Given the description of an element on the screen output the (x, y) to click on. 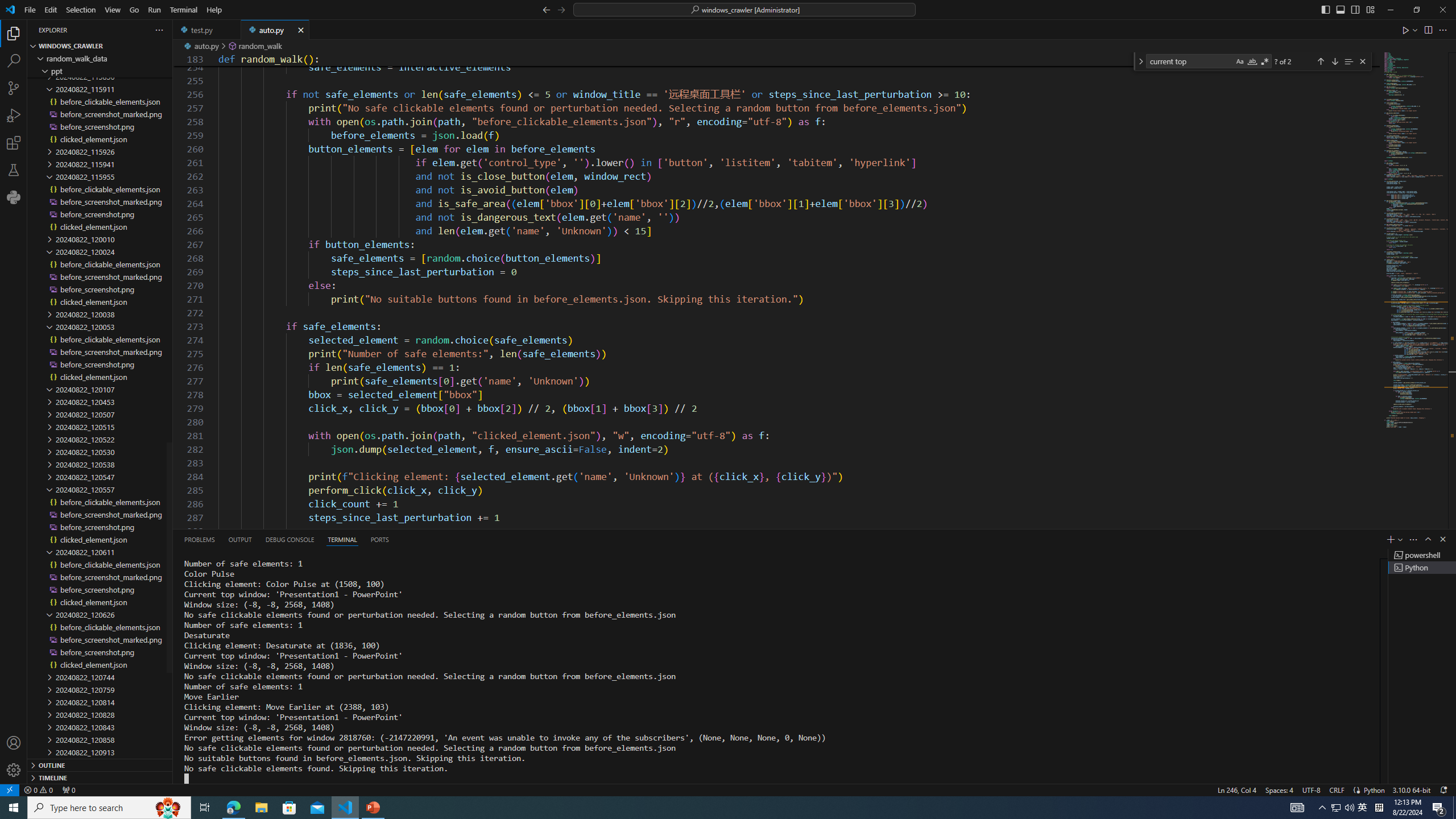
Views and More Actions... (1412, 539)
Maximize Panel Size (1428, 539)
Timeline Section (99, 777)
